Given the description of an element on the screen output the (x, y) to click on. 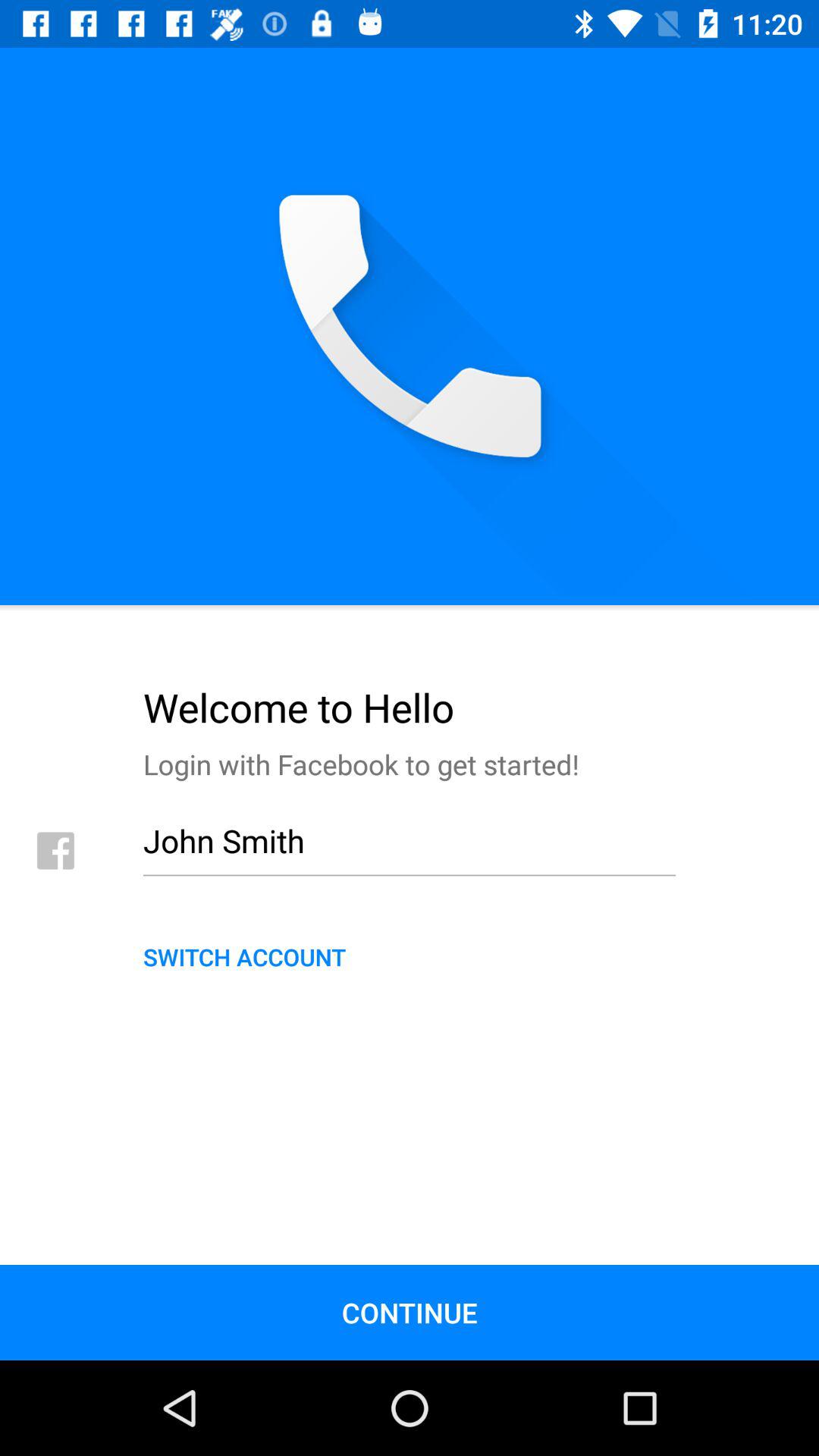
tap continue icon (409, 1312)
